Given the description of an element on the screen output the (x, y) to click on. 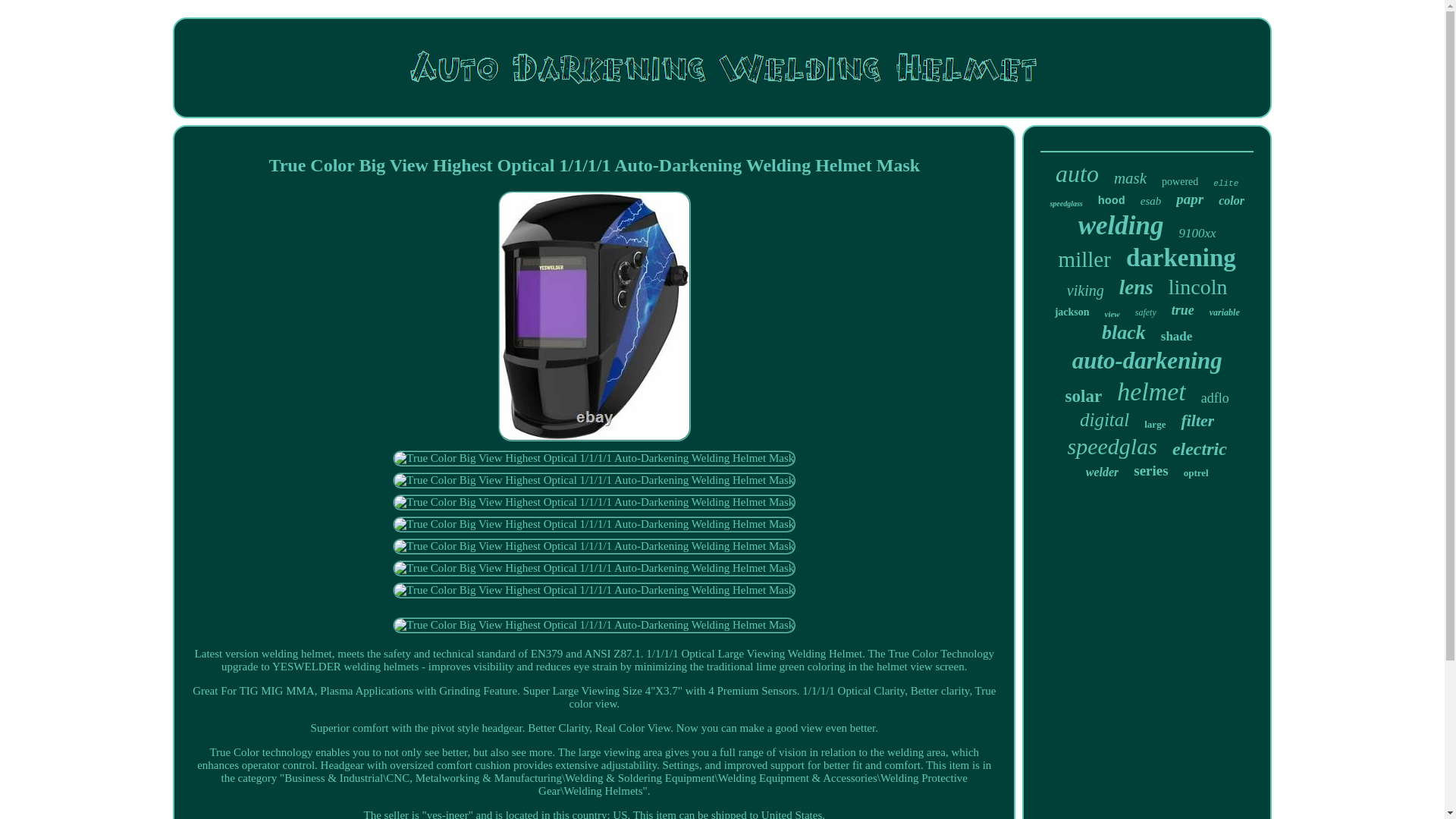
helmet (1151, 391)
powered (1179, 182)
black (1123, 332)
shade (1176, 336)
auto (1077, 173)
welding (1120, 225)
variable (1224, 312)
mask (1130, 178)
hood (1111, 201)
esab (1150, 201)
speedglass (1065, 203)
elite (1225, 183)
lens (1136, 287)
adflo (1214, 398)
9100xx (1197, 233)
